Given the description of an element on the screen output the (x, y) to click on. 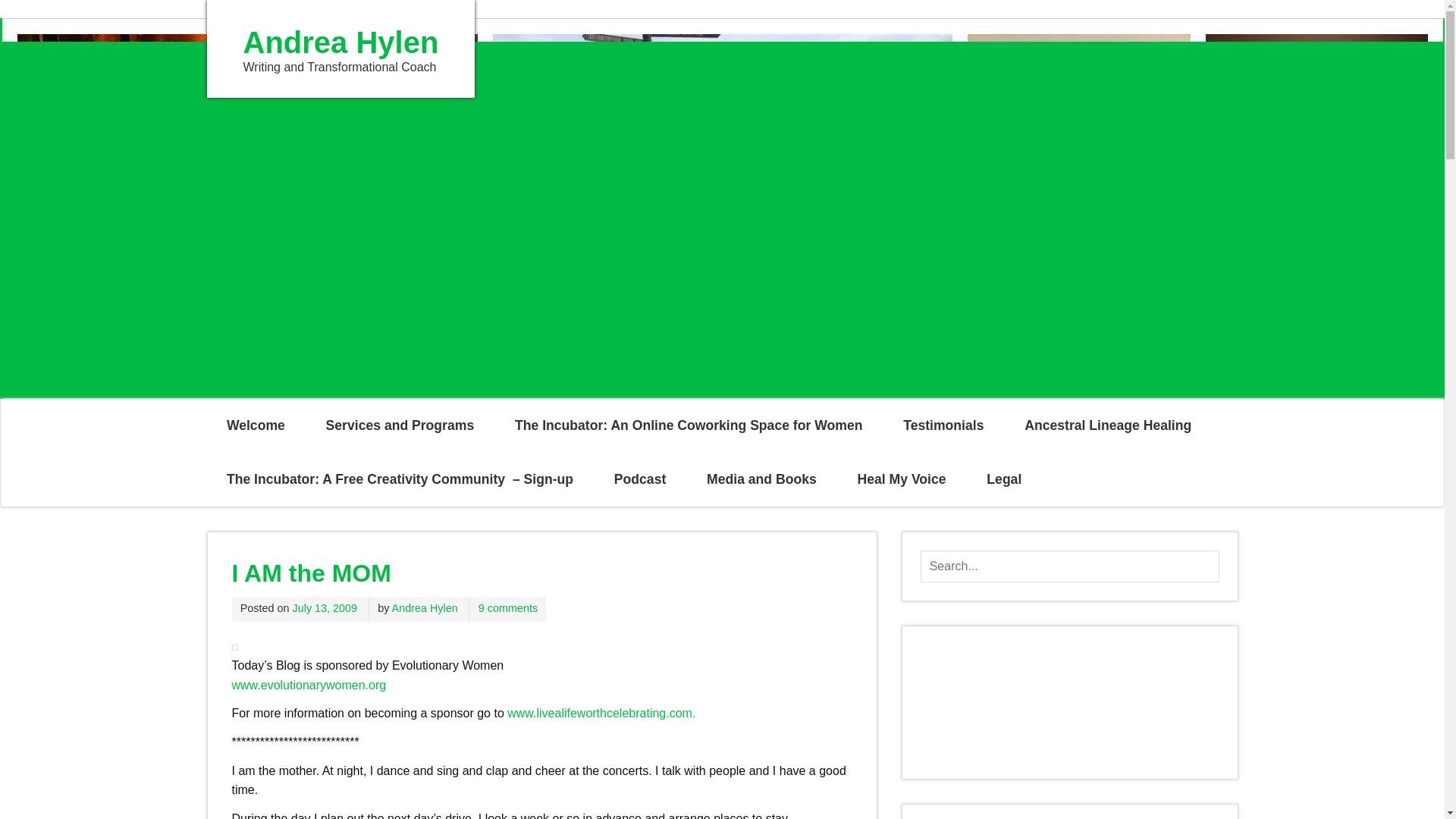
Media and Books (761, 479)
The Incubator: An Online Coworking Space for Women (688, 425)
View all posts by Andrea Hylen (424, 607)
www.livealifeworthcelebrating.com. (600, 712)
Andrea Hylen (340, 42)
Heal My Voice (901, 479)
Legal (1004, 479)
9 comments (508, 607)
Andrea Hylen (340, 42)
Services and Programs (399, 425)
6:20 am (325, 607)
www.evolutionarywomen.org (309, 684)
Andrea Hylen (424, 607)
Welcome (255, 425)
July 13, 2009 (325, 607)
